Given the description of an element on the screen output the (x, y) to click on. 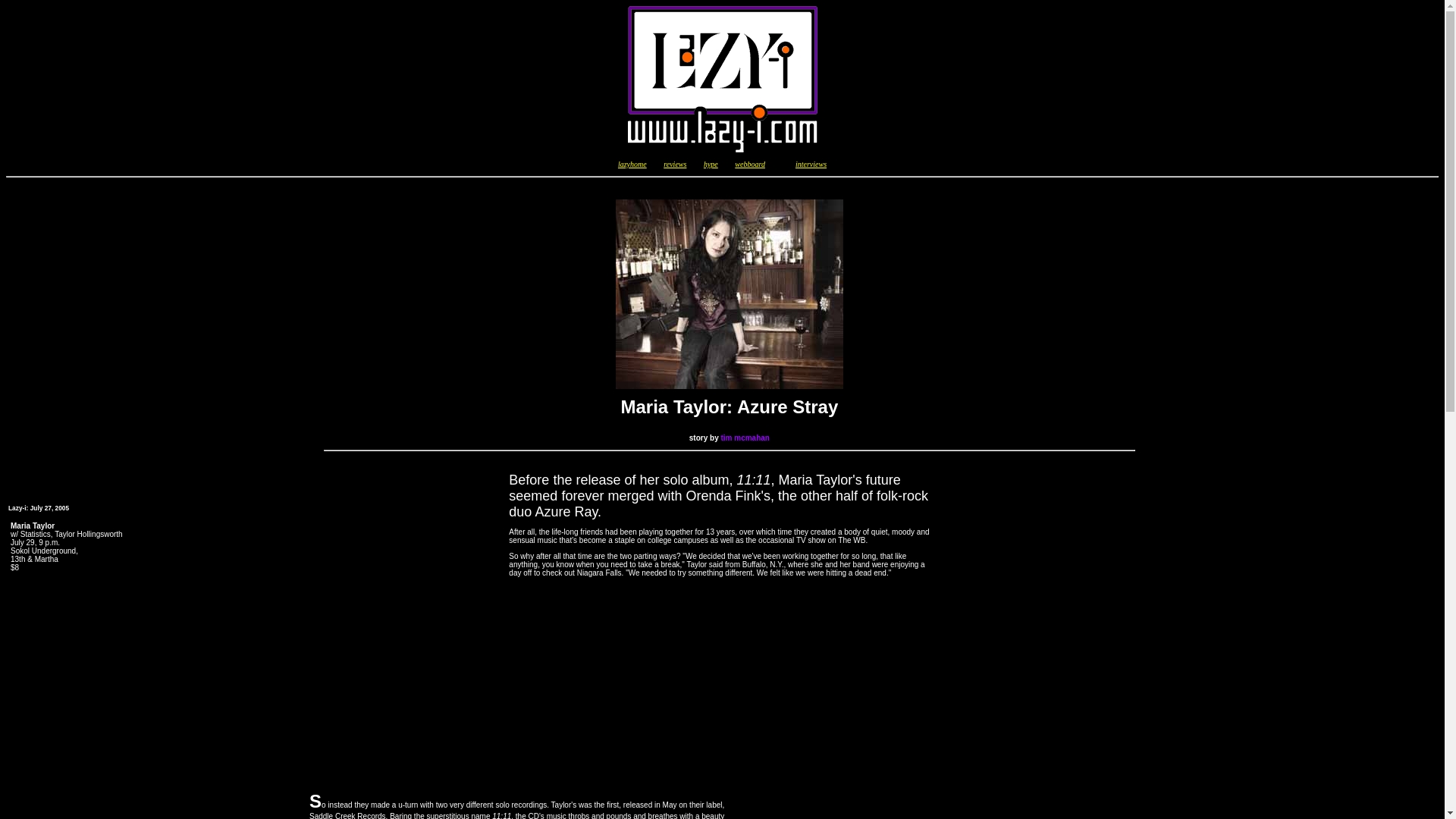
reviews (674, 163)
webboard (750, 163)
hype (710, 163)
lazyhome (631, 163)
interviews (810, 163)
